Given the description of an element on the screen output the (x, y) to click on. 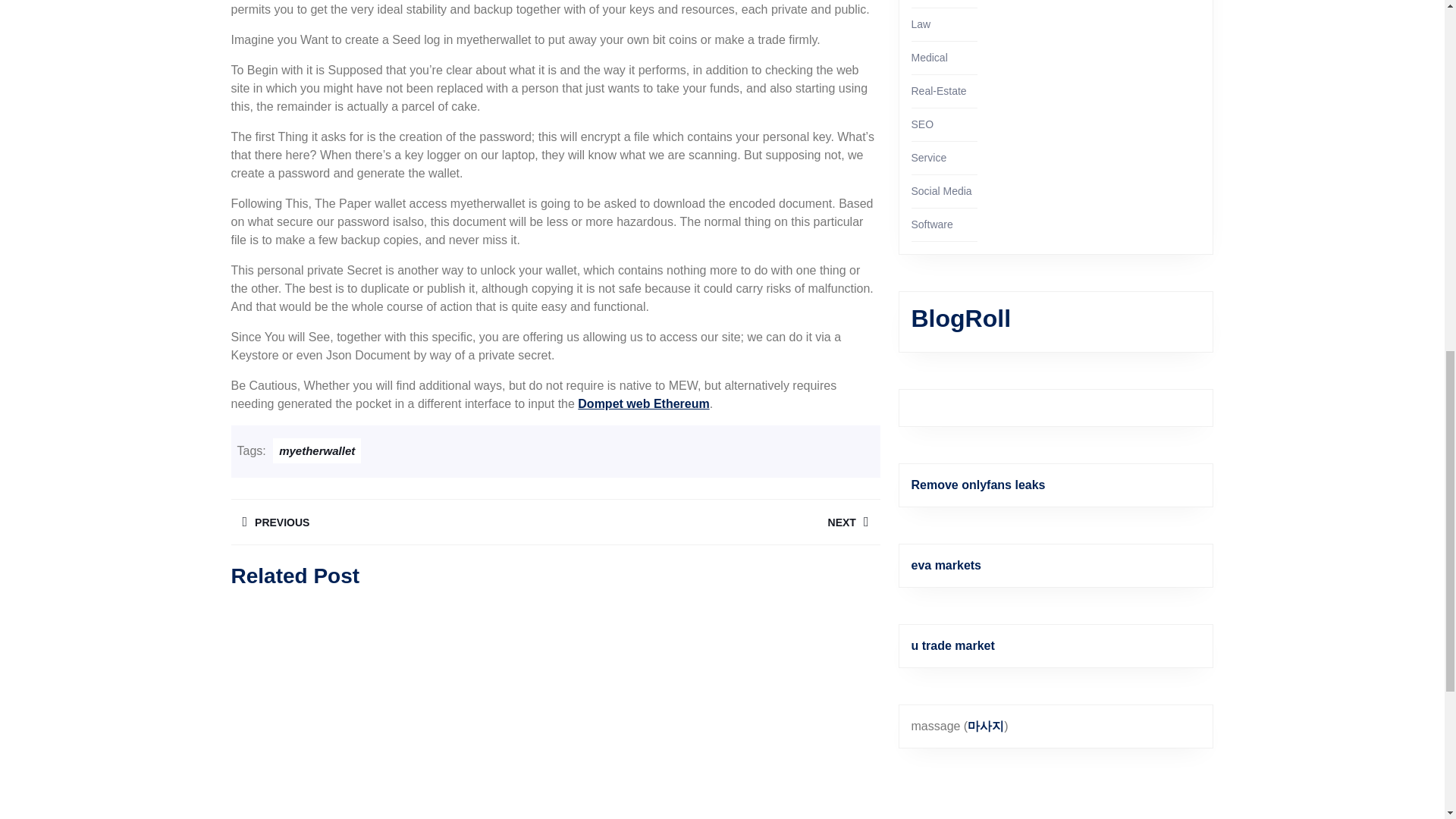
myetherwallet (317, 450)
Dompet web Ethereum (392, 521)
